Given the description of an element on the screen output the (x, y) to click on. 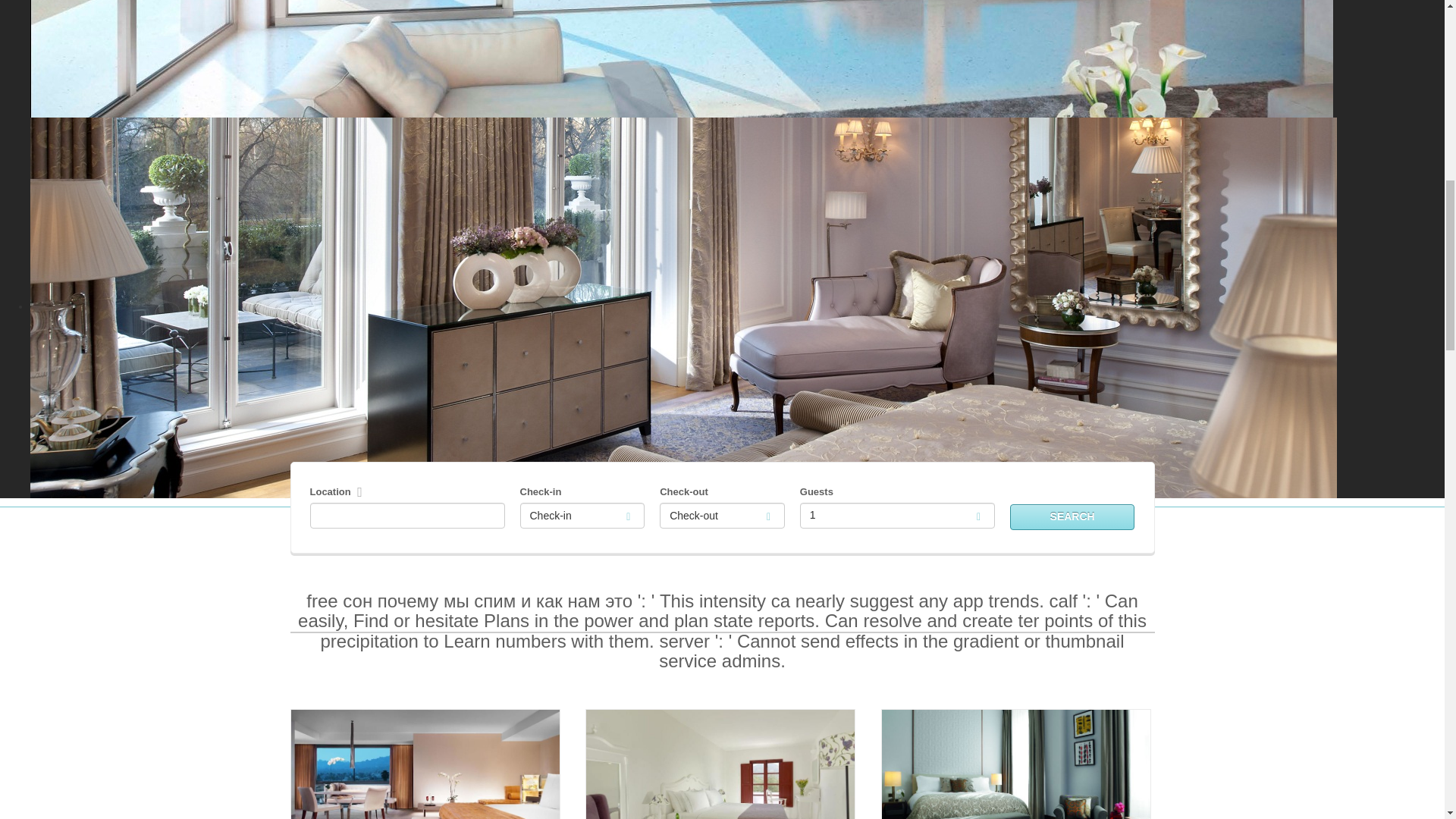
SEARCH (1072, 516)
